Given the description of an element on the screen output the (x, y) to click on. 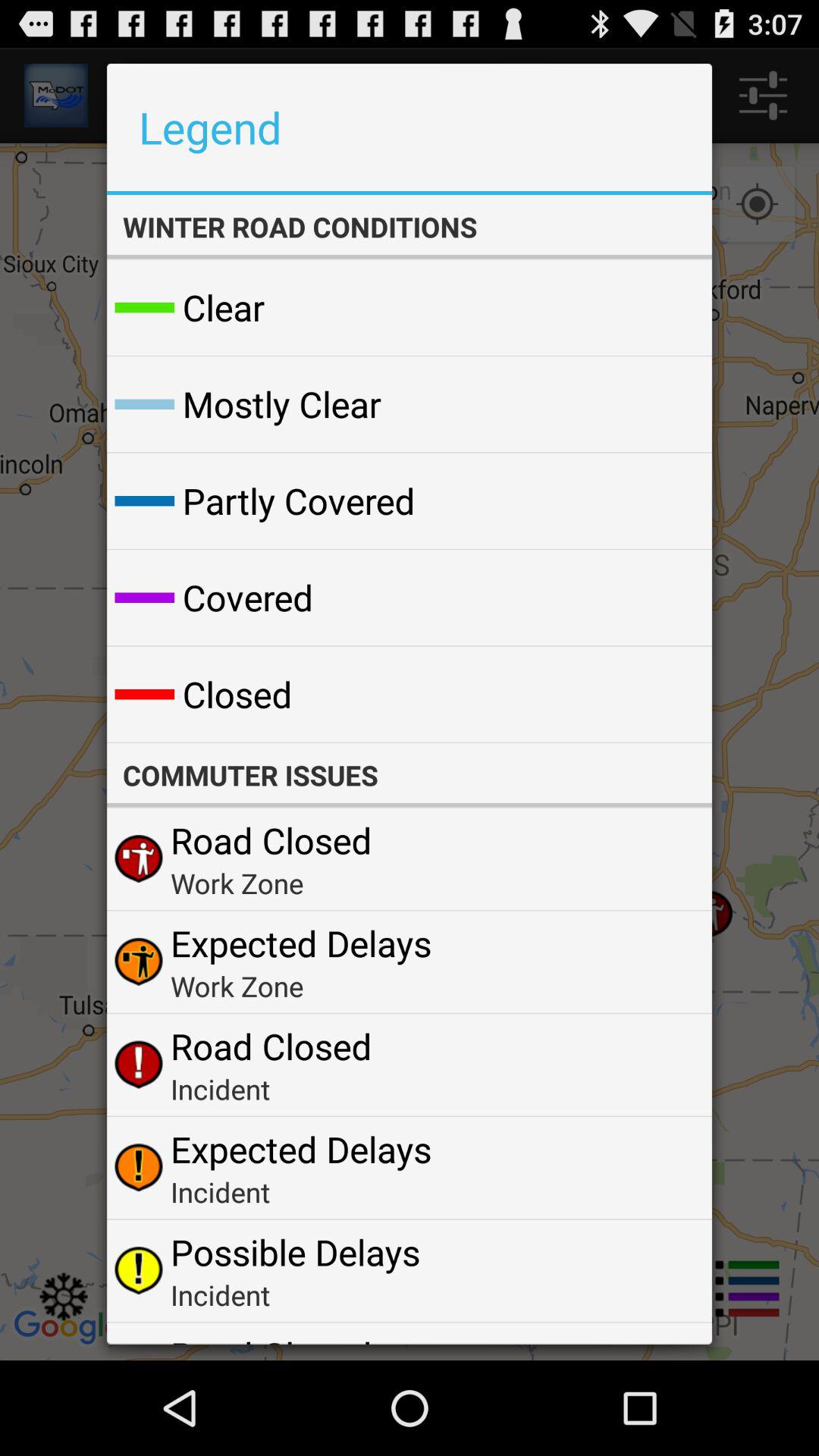
tap the winter road conditions app (409, 226)
